Given the description of an element on the screen output the (x, y) to click on. 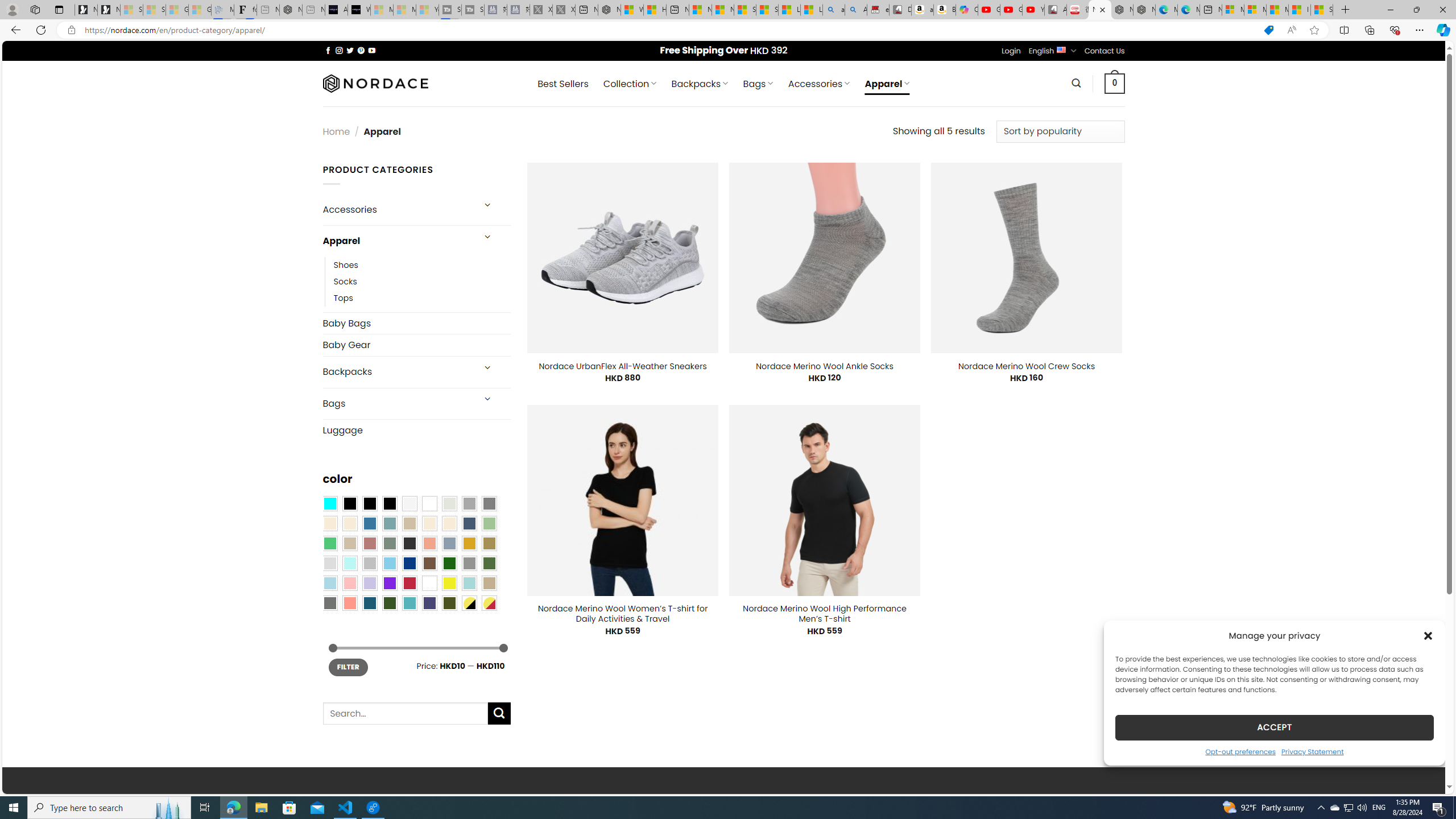
This site has coupons! Shopping in Microsoft Edge (1268, 29)
Search for: (404, 712)
Baby Gear (416, 345)
Nordace - Apparel (1099, 9)
 Best Sellers (562, 83)
White (429, 582)
Beige-Brown (349, 522)
